Given the description of an element on the screen output the (x, y) to click on. 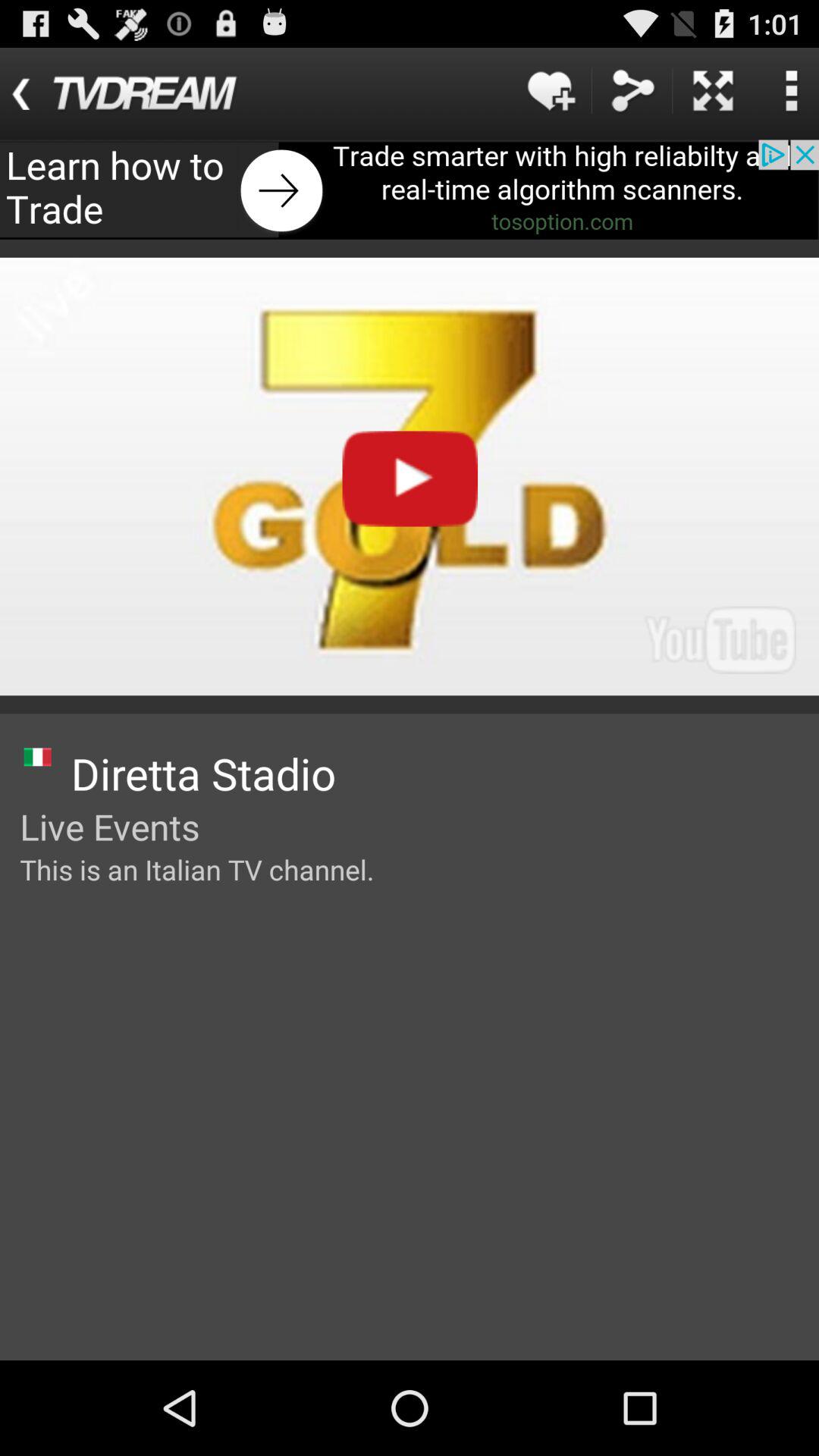
share button (632, 90)
